Given the description of an element on the screen output the (x, y) to click on. 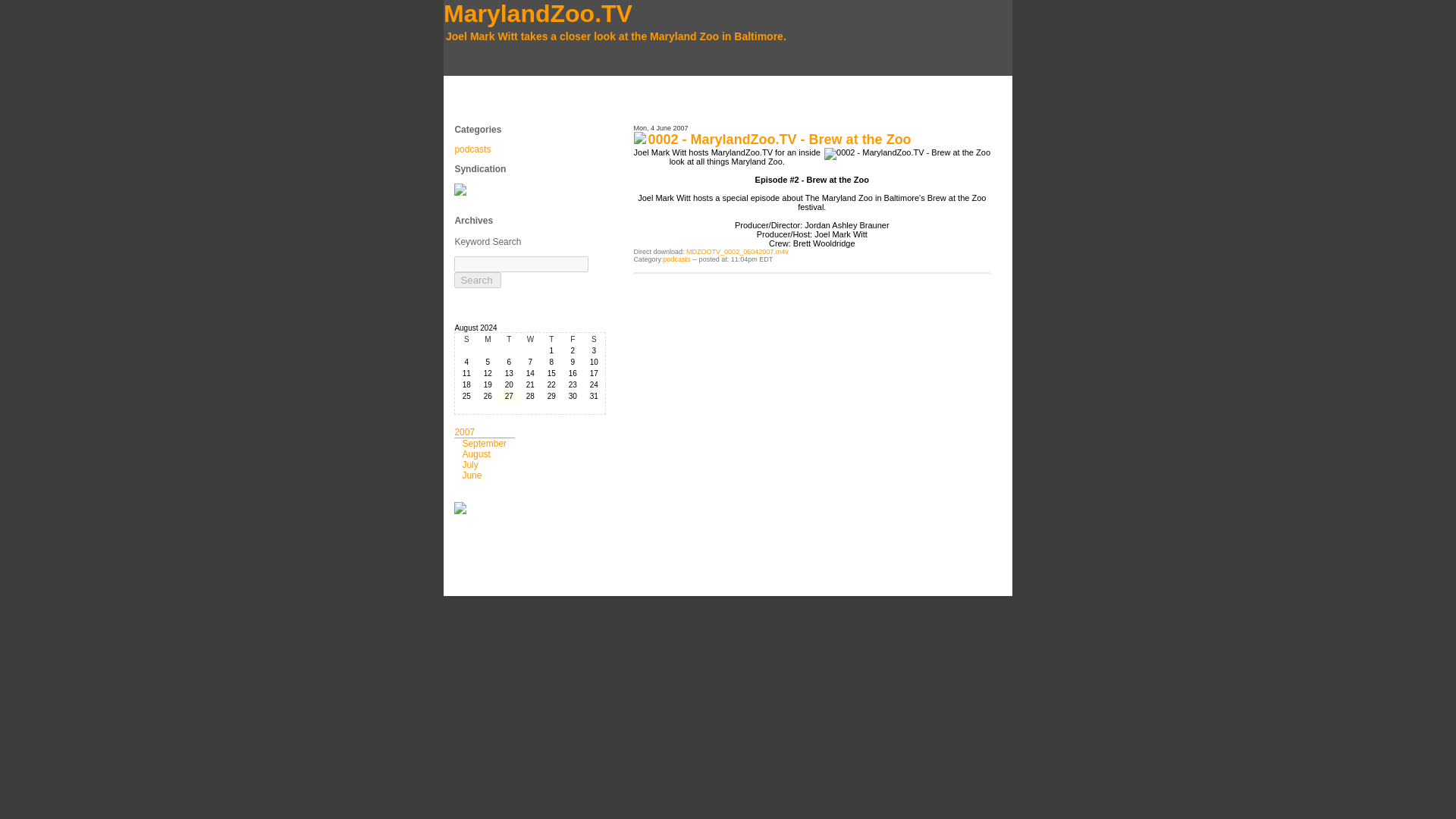
Thursday (550, 338)
Saturday (593, 338)
June (471, 475)
Tuesday (508, 338)
July (469, 464)
Monday (487, 338)
podcasts (676, 258)
podcasts (472, 149)
Search  (477, 279)
0002 - MarylandZoo.TV - Brew at the Zoo (779, 139)
